Given the description of an element on the screen output the (x, y) to click on. 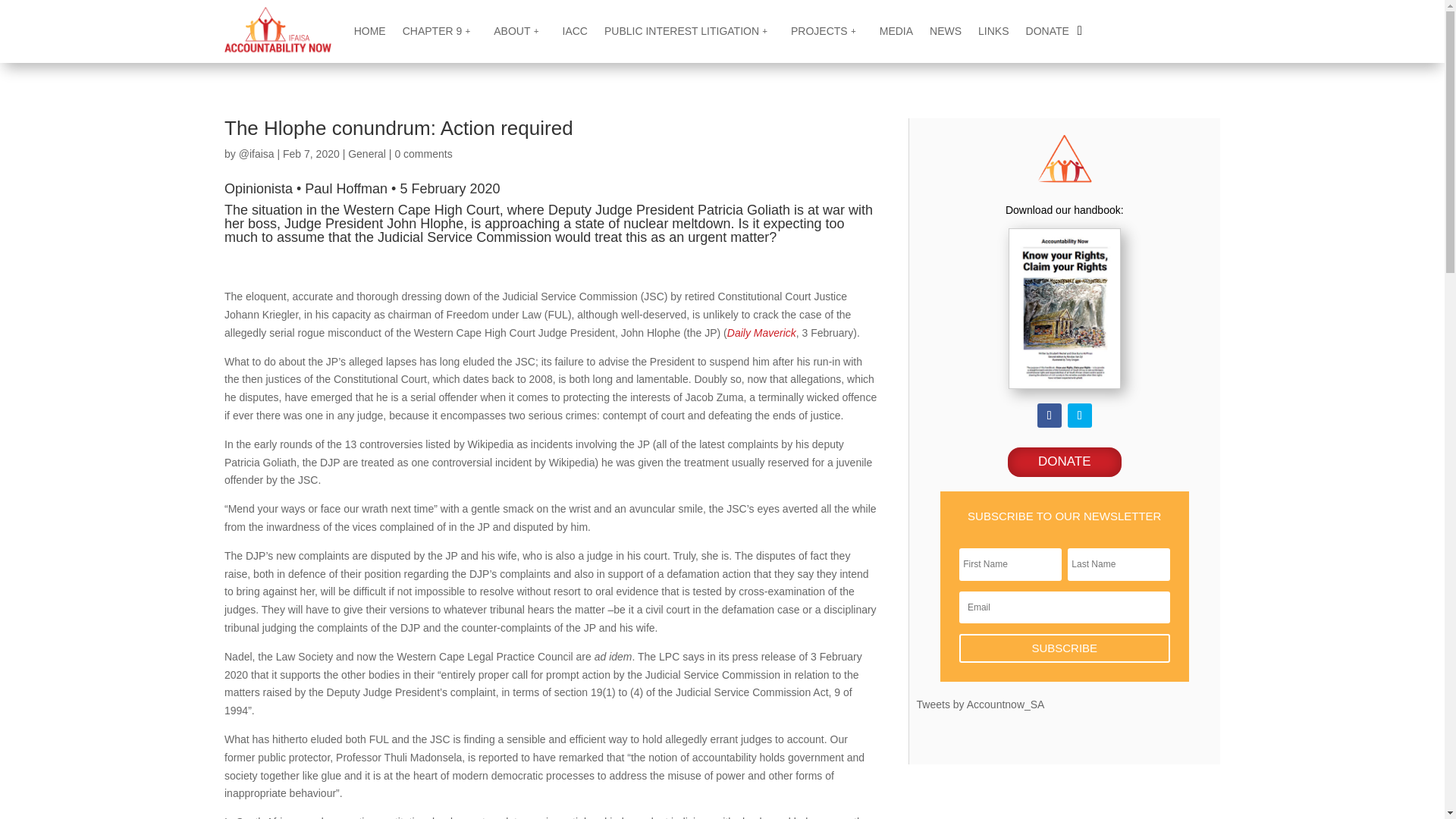
CHAPTER 9 (440, 30)
Follow on Facebook (1048, 415)
PROJECTS (826, 30)
General (366, 153)
Daily Maverick (761, 332)
ABOUT (518, 30)
PUBLIC INTEREST LITIGATION (689, 30)
0 comments (422, 153)
